Given the description of an element on the screen output the (x, y) to click on. 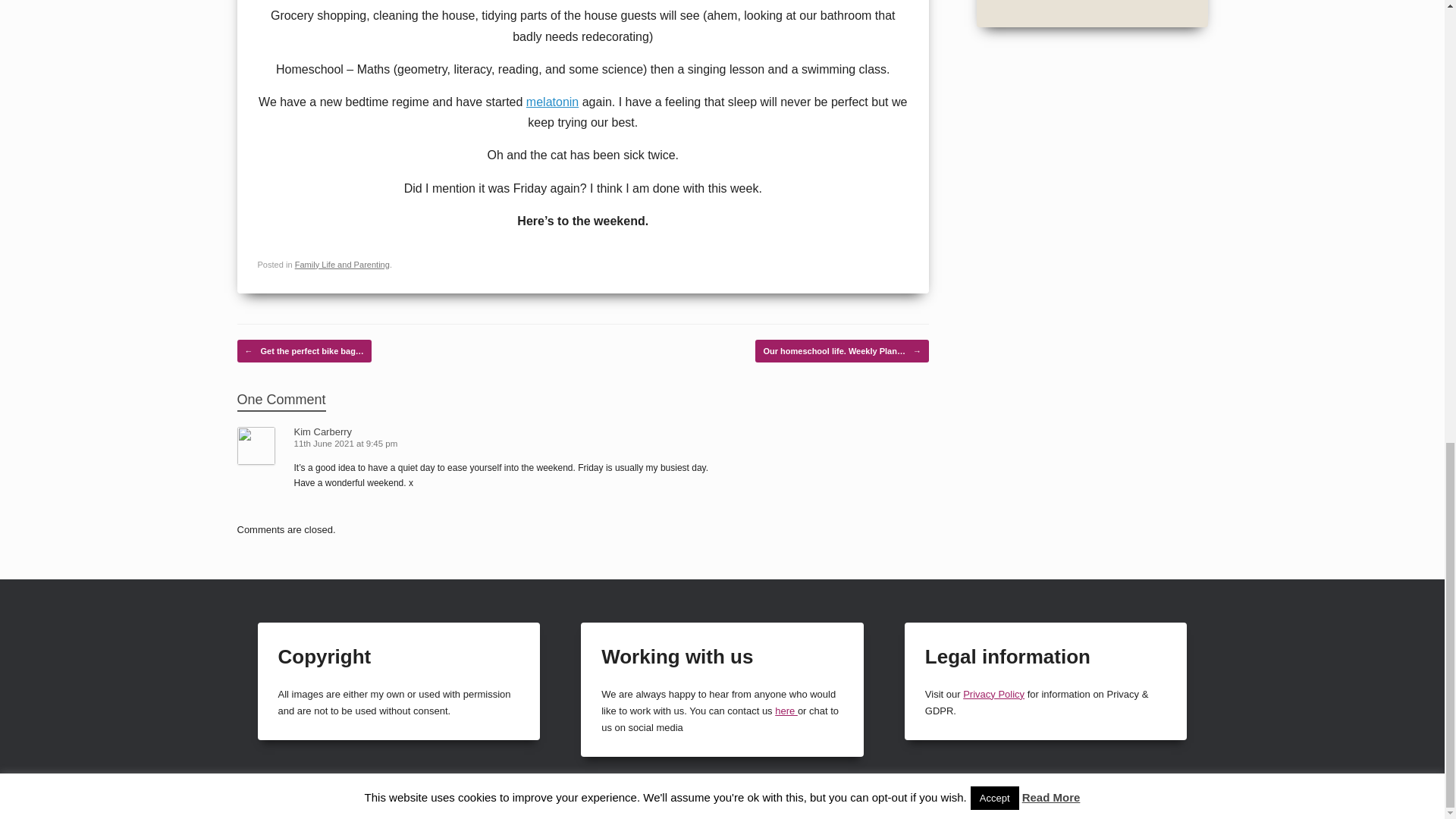
Privacy Policy (993, 694)
Kim Carberry (323, 431)
Family Life and Parenting (342, 264)
11th June 2021 at 9:45 pm (347, 442)
here (785, 710)
Gillyfleur (1366, 804)
melatonin (551, 101)
